Given the description of an element on the screen output the (x, y) to click on. 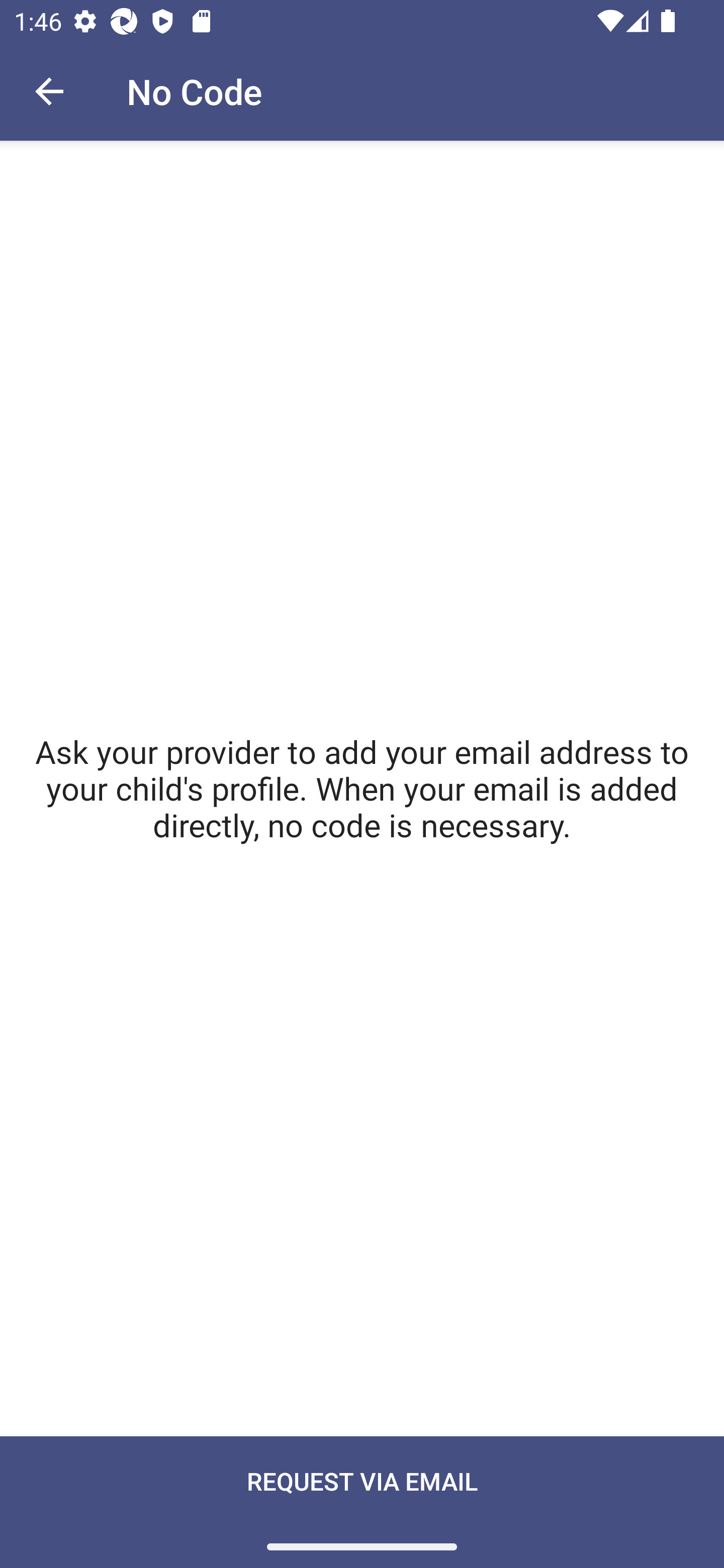
Navigate up (49, 91)
REQUEST VIA EMAIL (362, 1502)
